Given the description of an element on the screen output the (x, y) to click on. 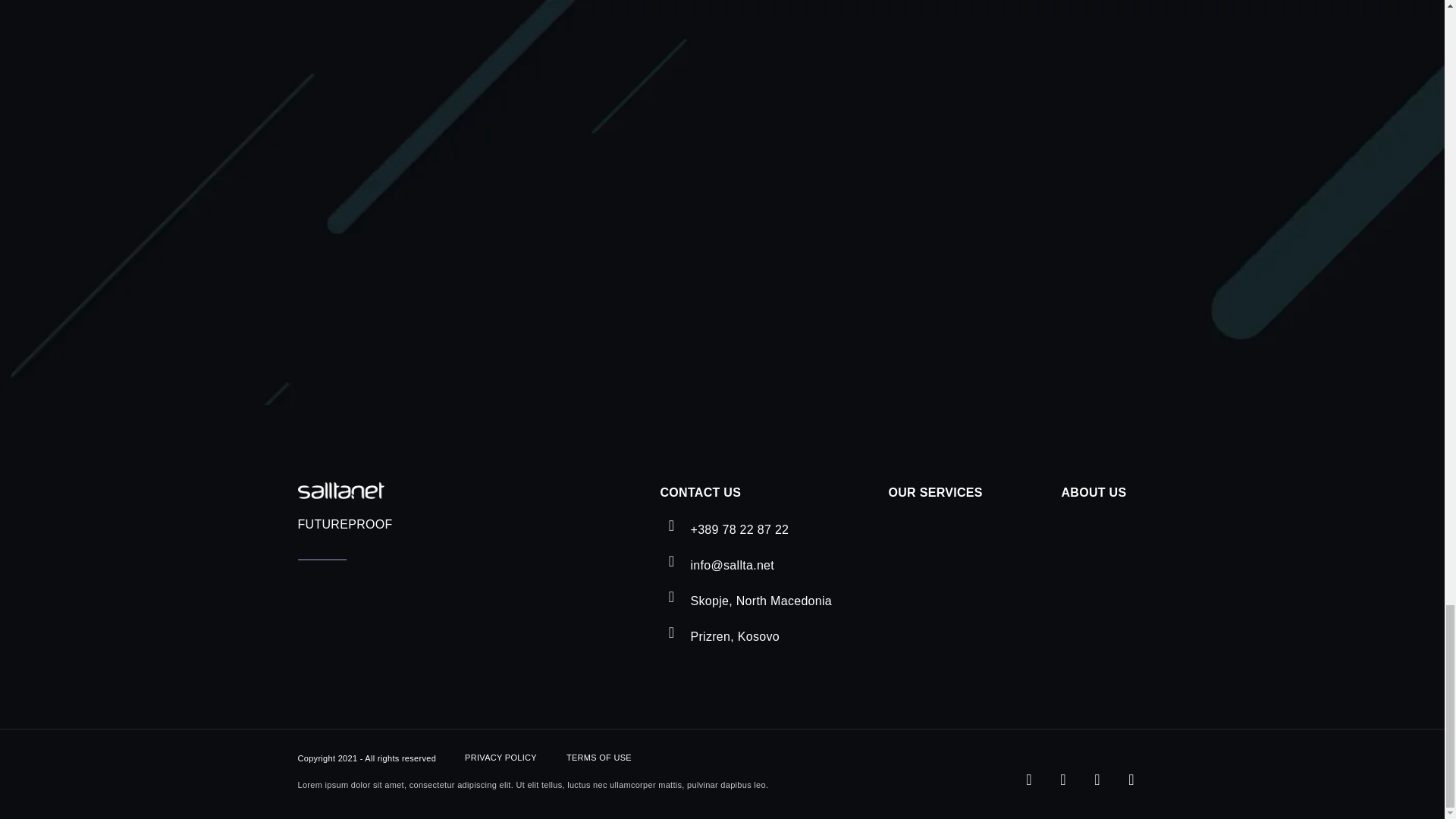
TERMS OF USE (598, 758)
PRIVACY POLICY (500, 758)
